Given the description of an element on the screen output the (x, y) to click on. 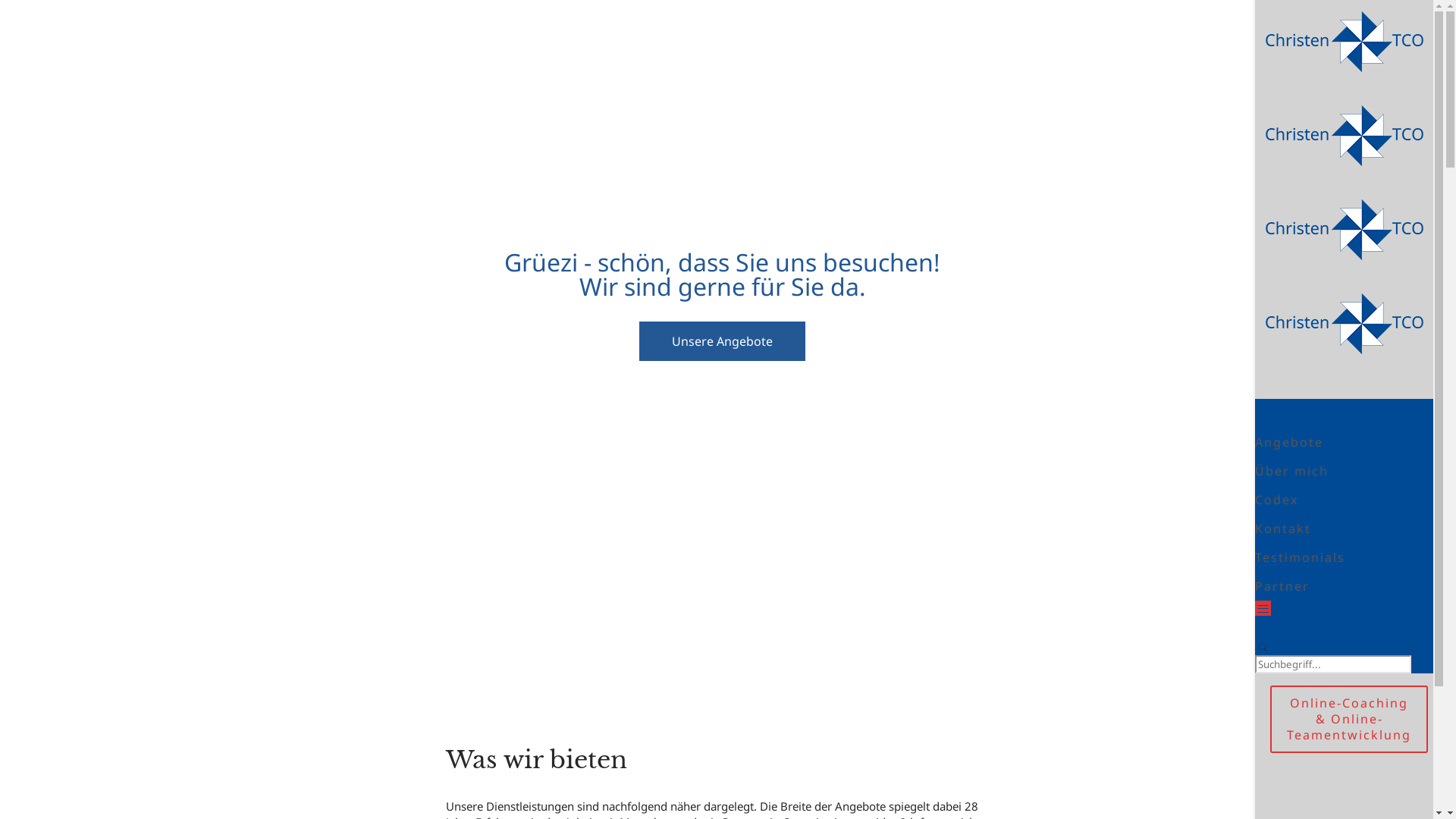
Christen TCO Element type: hover (1344, 208)
Codex Element type: text (1276, 499)
Angebote Element type: text (1289, 441)
Home Element type: text (1275, 412)
Testimonials Element type: text (1300, 557)
Partner Element type: text (1282, 585)
Unsere Angebote Element type: text (722, 340)
Online-Coaching & Online-Teamentwicklung Element type: text (1348, 719)
Kontakt Element type: text (1283, 528)
